Given the description of an element on the screen output the (x, y) to click on. 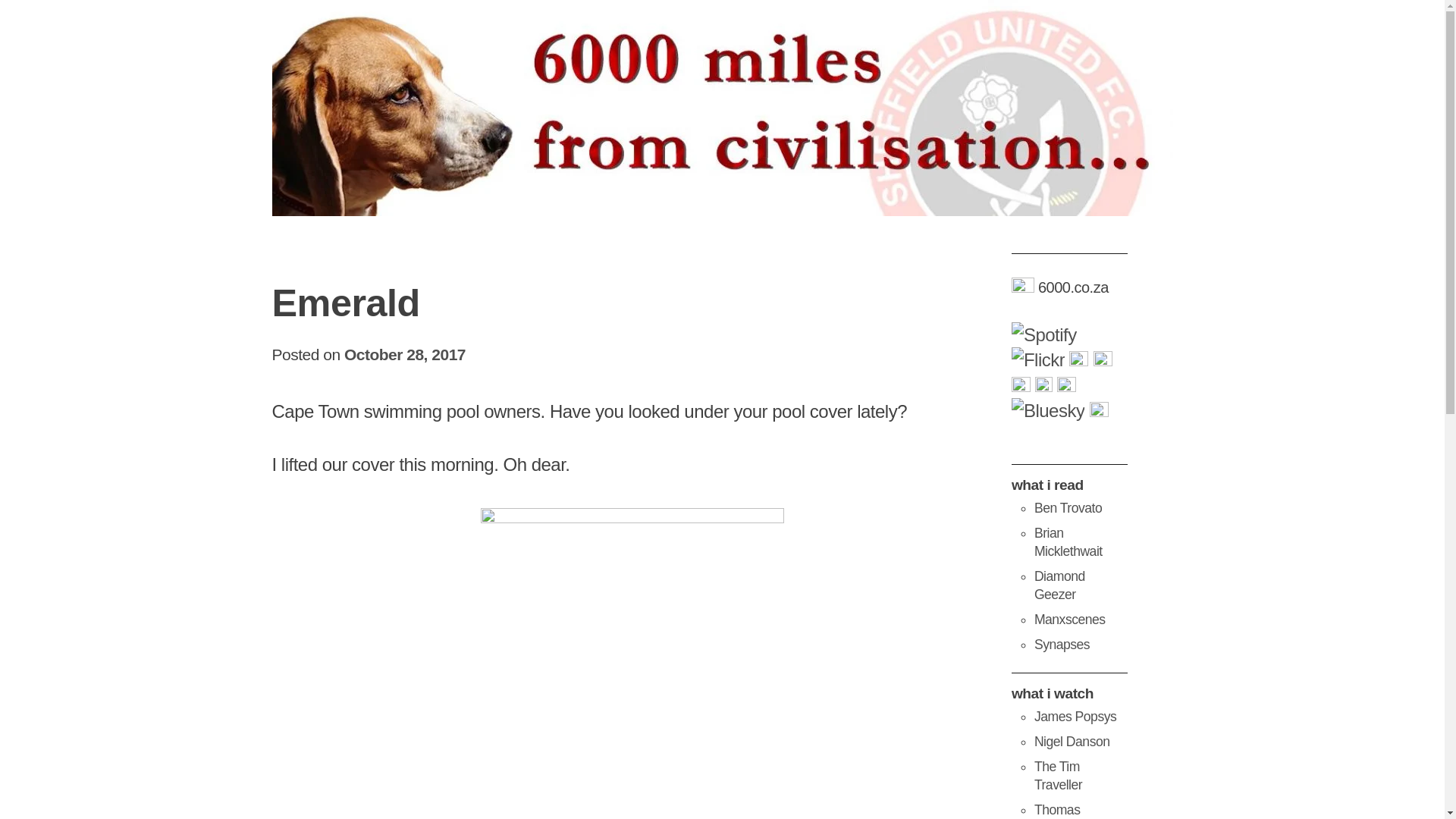
The Tim Traveller (1057, 775)
October 28, 2017 (404, 354)
Manxscenes (1069, 619)
James Popsys (1074, 716)
Daily tales of London (1058, 585)
Diamond Geezer (1058, 585)
Nigel Danson (1071, 741)
Ben Trovato (1067, 507)
Eclectic mix of social commentary (1067, 542)
UK landscape photographer (1071, 741)
Photography advice from the UK (1074, 716)
jacques talks mostly sense (1061, 644)
Brian Micklethwait (1067, 542)
Synapses (1061, 644)
